Given the description of an element on the screen output the (x, y) to click on. 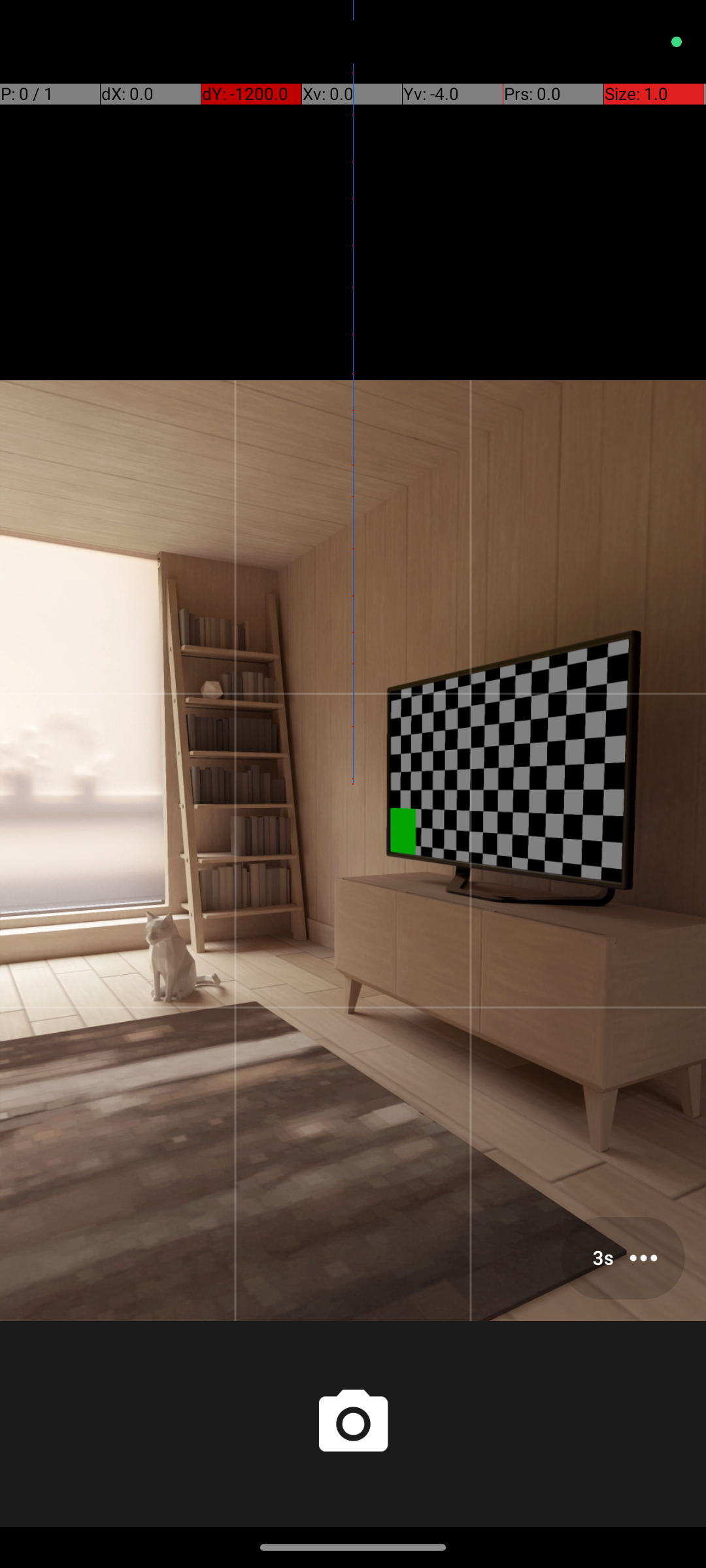
Options Element type: android.widget.LinearLayout (622, 1258)
